Given the description of an element on the screen output the (x, y) to click on. 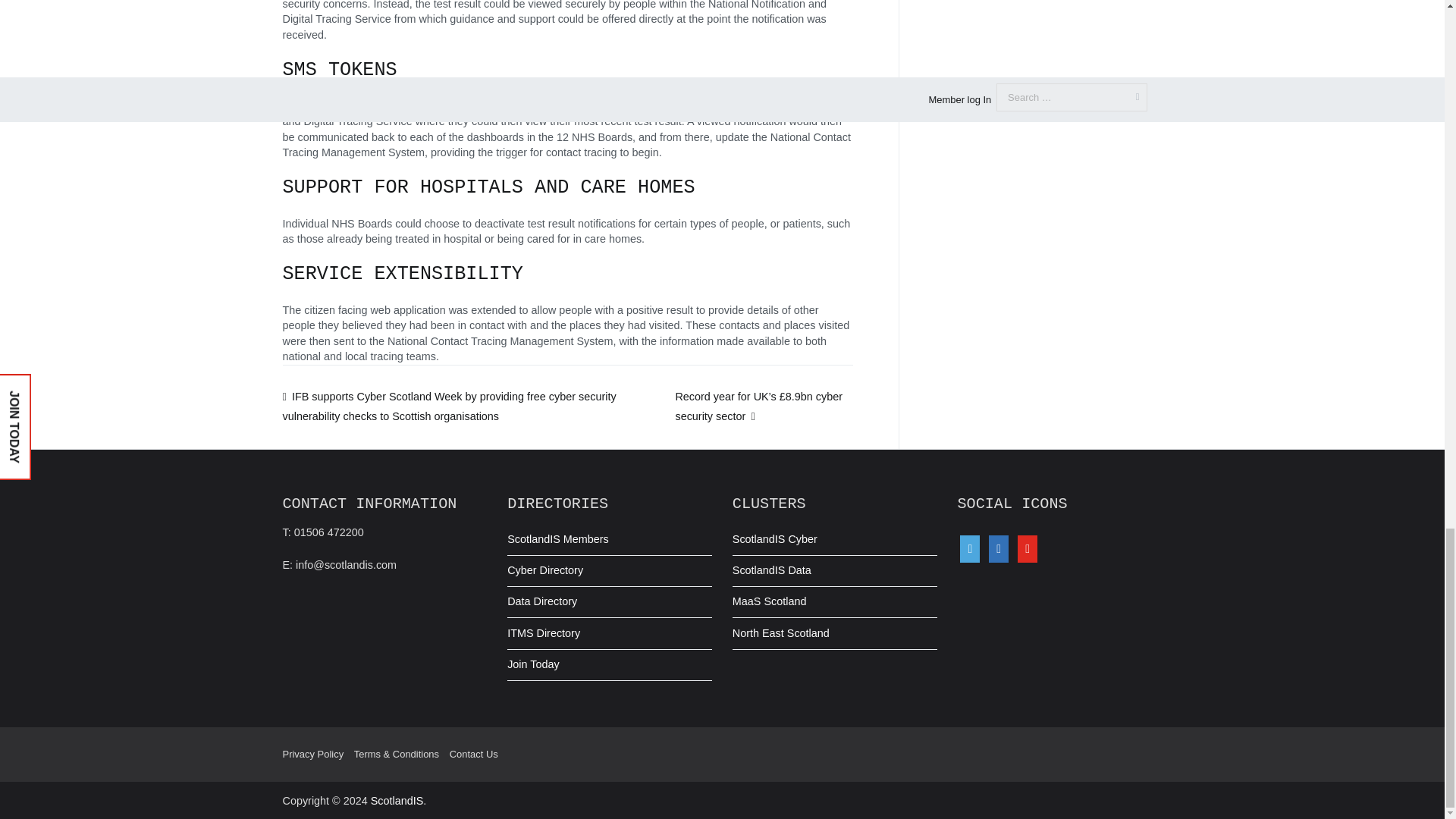
ScotlandIS (397, 800)
